Given the description of an element on the screen output the (x, y) to click on. 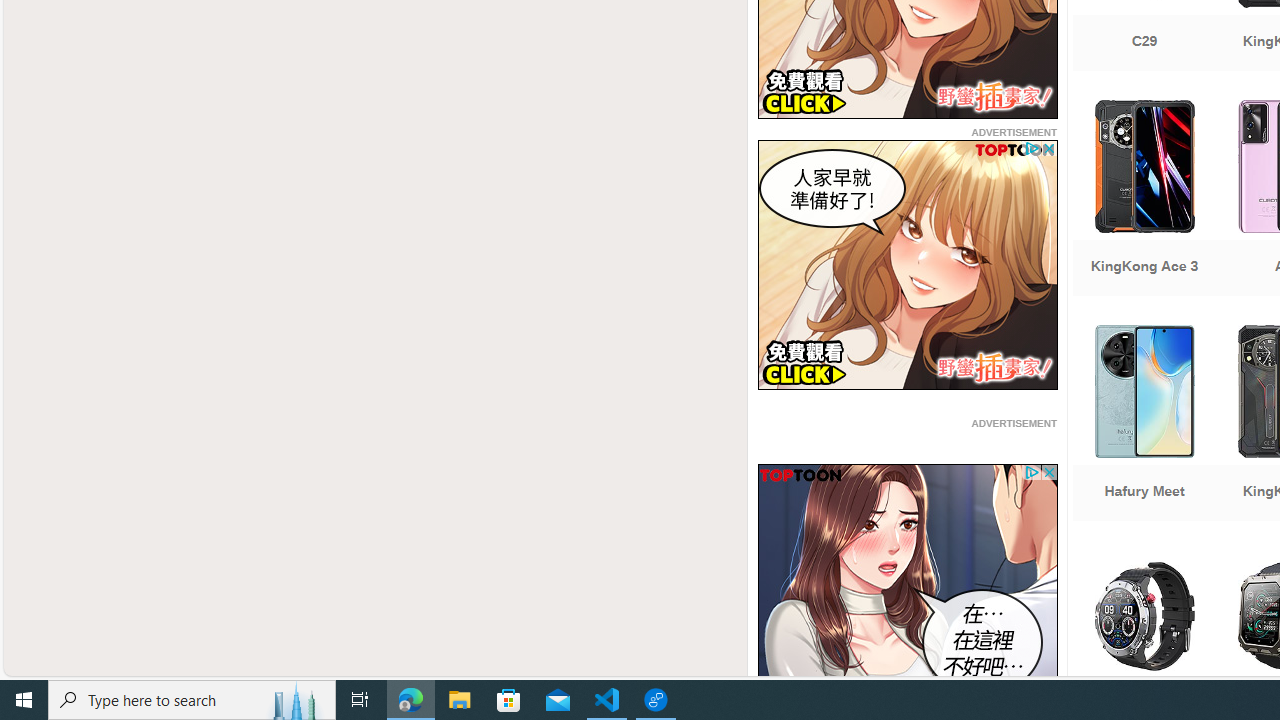
AutomationID: close_button_svg (1048, 472)
To get missing image descriptions, open the context menu. (907, 588)
Hafury Meet (1144, 425)
Class: privacy_out (1030, 472)
To get missing image descriptions, open the context menu. (907, 588)
KingKong Ace 3 (1144, 200)
